Given the description of an element on the screen output the (x, y) to click on. 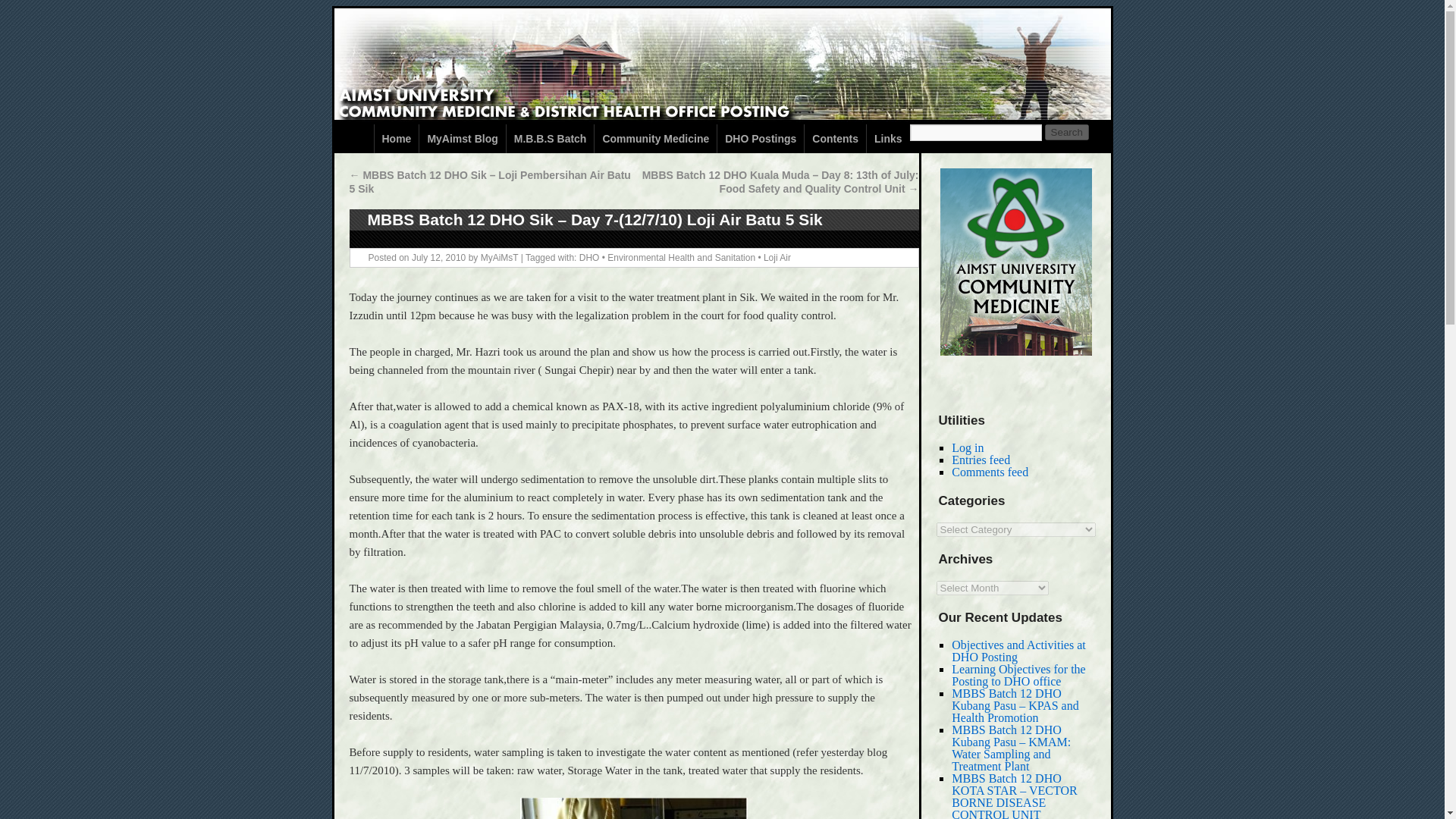
DHO Posting Contents (835, 138)
Home (396, 138)
Community Medicine (655, 138)
Search (1067, 132)
M.B.B.S Batch (550, 138)
MyAimst Blog (462, 138)
Contents (835, 138)
Links (888, 138)
District Health Office Postings (760, 138)
DHO Postings (760, 138)
